Given the description of an element on the screen output the (x, y) to click on. 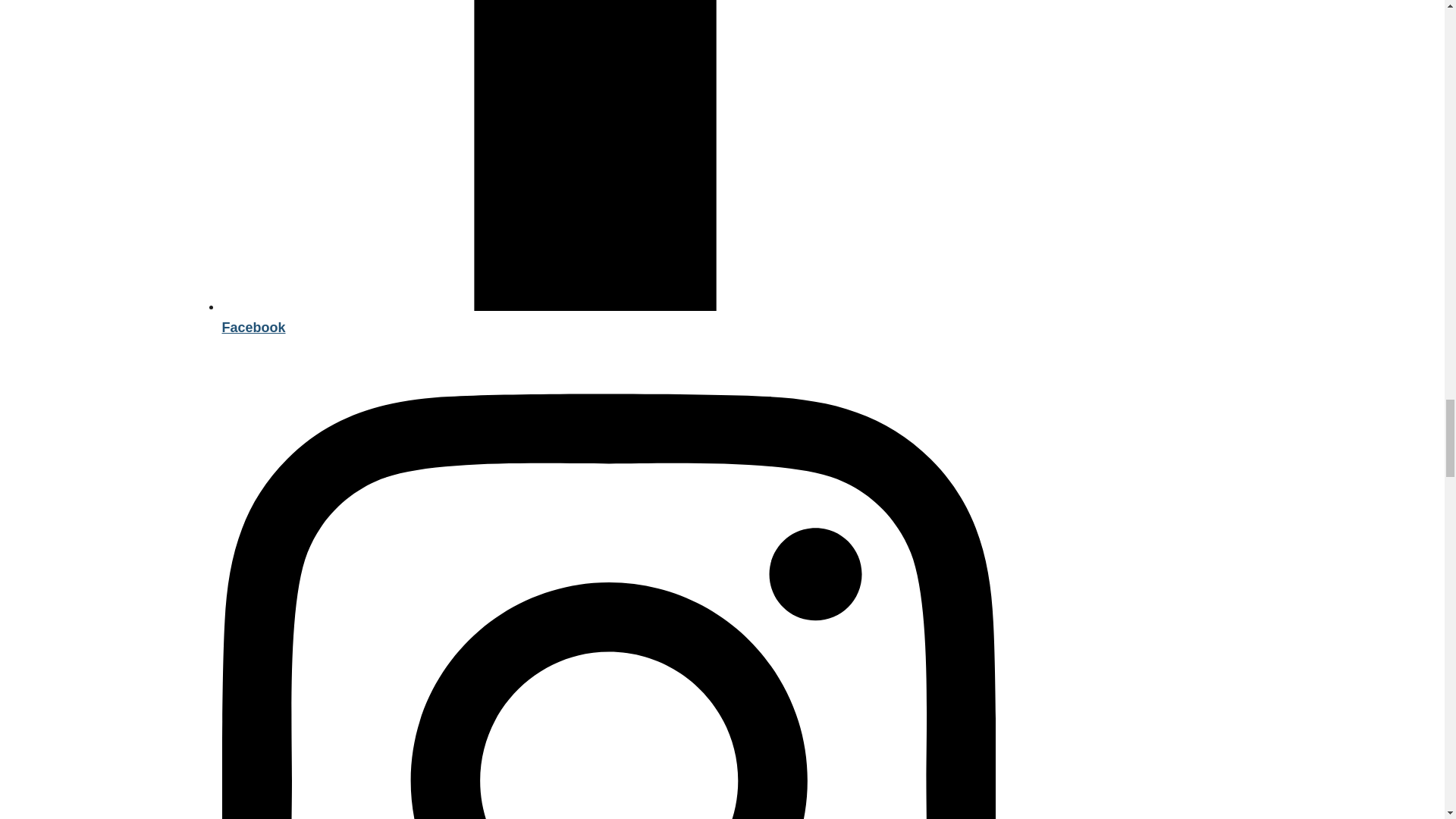
Facebook (607, 316)
